Given the description of an element on the screen output the (x, y) to click on. 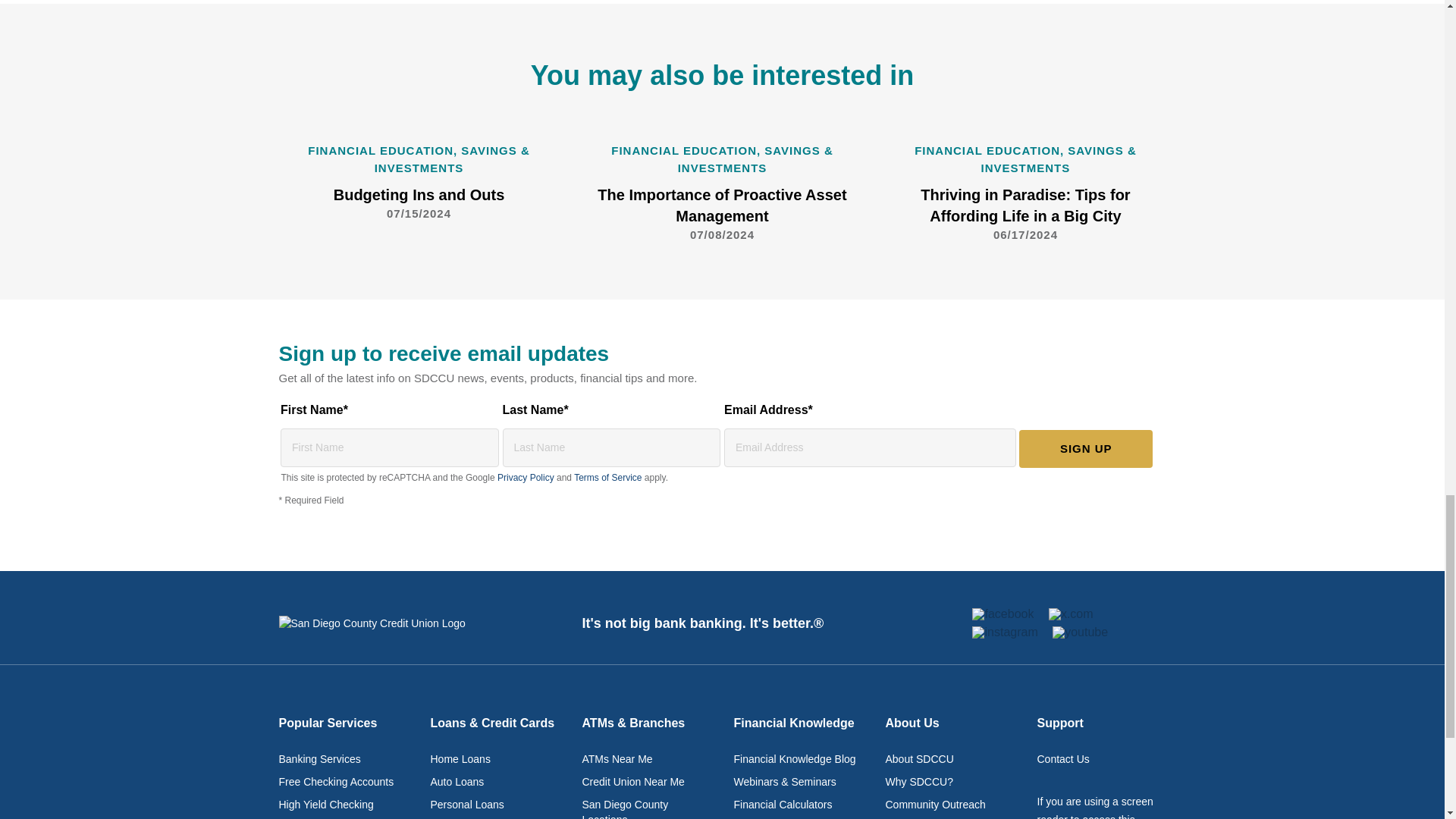
Sign Up (1086, 448)
Go to San Diego Credit Union homepage (391, 623)
